Given the description of an element on the screen output the (x, y) to click on. 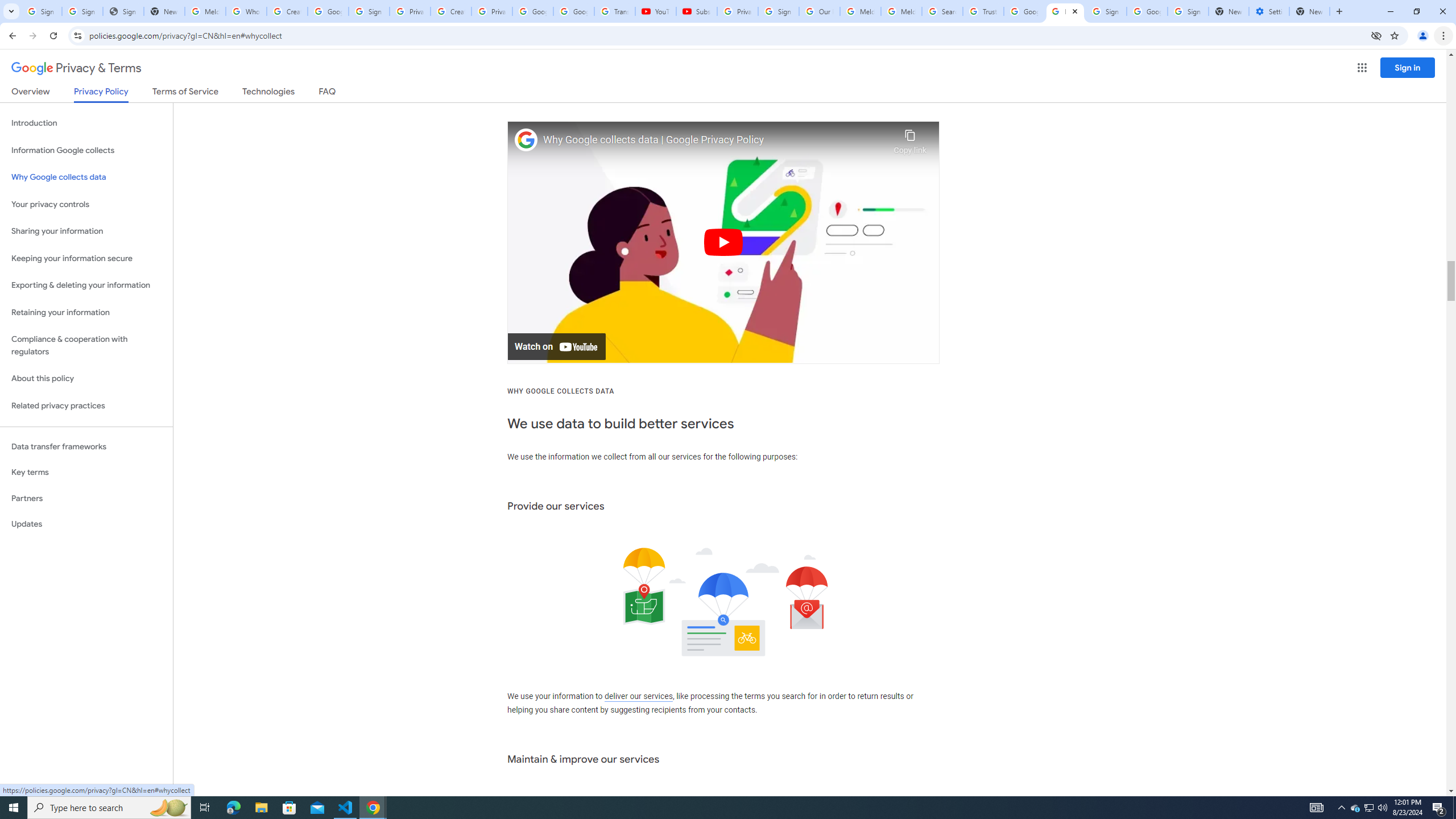
Create your Google Account (450, 11)
Sign in - Google Accounts (368, 11)
Keeping your information secure (86, 258)
Exporting & deleting your information (86, 284)
Google Account (573, 11)
Retaining your information (86, 312)
Google Cybersecurity Innovations - Google Safety Center (1146, 11)
Compliance & cooperation with regulators (86, 345)
